Given the description of an element on the screen output the (x, y) to click on. 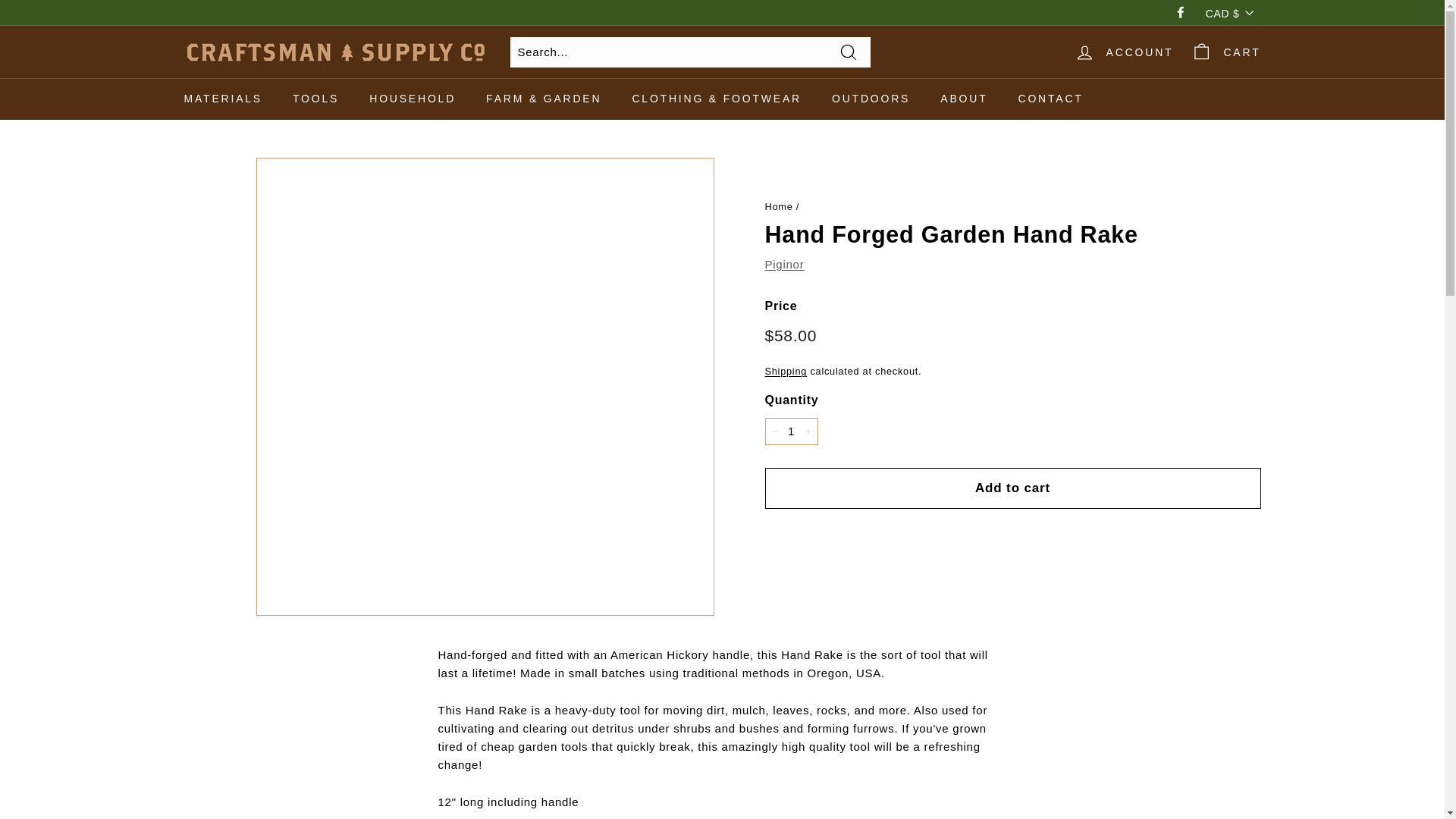
1 (790, 431)
Piginor (783, 264)
Back to the frontpage (778, 206)
